Given the description of an element on the screen output the (x, y) to click on. 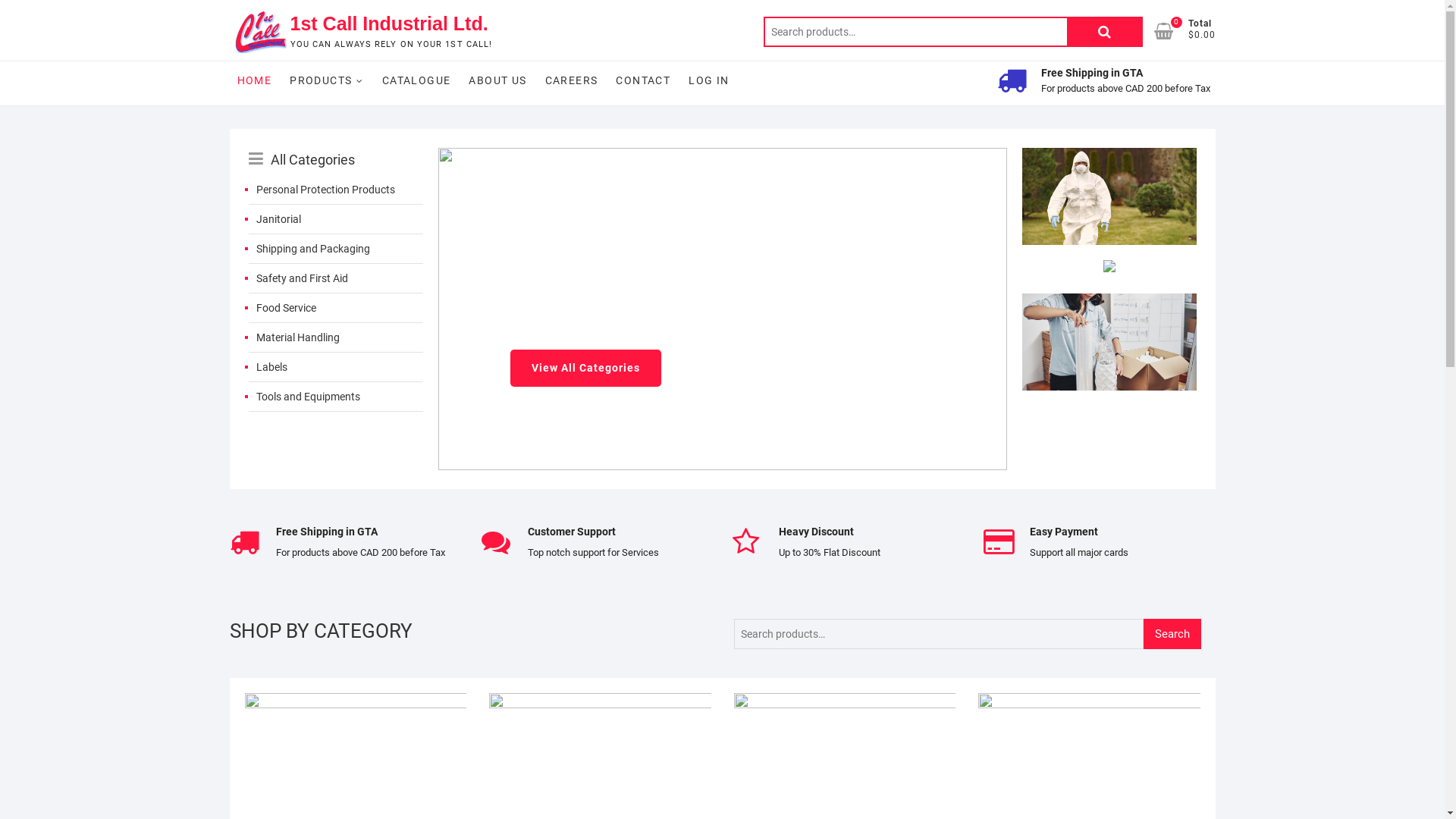
Tools and Equipments Element type: text (335, 396)
Safety and First Aid Element type: text (335, 277)
Search Element type: text (1172, 633)
HOME Element type: text (254, 80)
CAREERS Element type: text (571, 80)
Shipping and Packaging Element type: text (335, 248)
Food Service Element type: text (335, 307)
CONTACT Element type: text (642, 80)
Search Element type: text (1104, 31)
0 Element type: text (1171, 30)
Labels Element type: text (335, 366)
LOG IN Element type: text (708, 80)
Personal Protection Products Element type: text (335, 189)
Material Handling Element type: text (335, 337)
CATALOGUE Element type: text (416, 80)
View All Categories Element type: text (584, 356)
Janitorial Element type: text (335, 218)
1st Call Industrial Ltd. Element type: text (390, 23)
ABOUT US Element type: text (497, 80)
PRODUCTS Element type: text (326, 80)
